Given the description of an element on the screen output the (x, y) to click on. 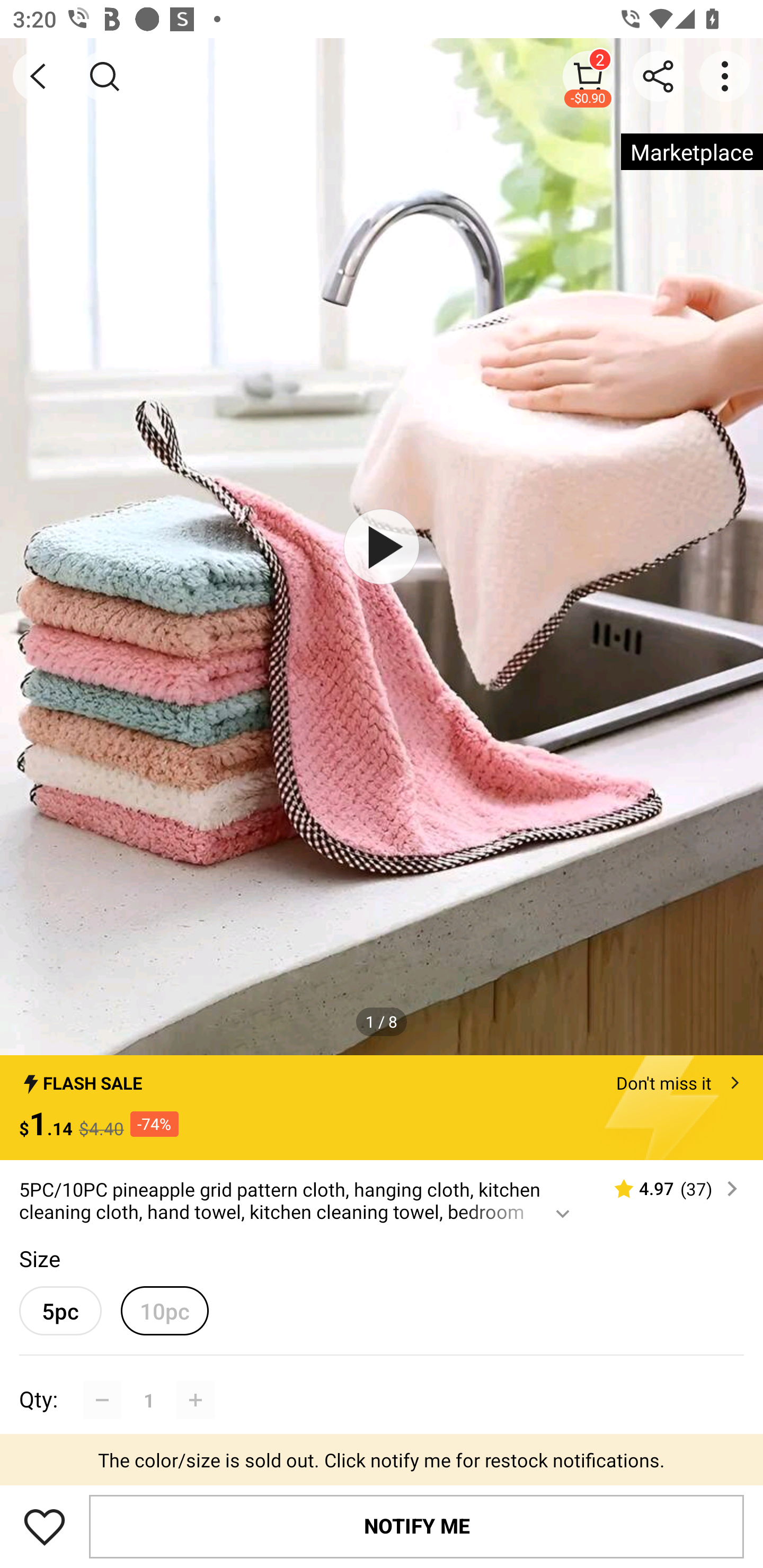
BACK (38, 75)
2 -$0.90 (588, 75)
1 / 8 (381, 1021)
FLASH SALE Don't miss it $1.14 $4.40 -74% (381, 1107)
FLASH SALE Don't miss it (381, 1077)
4.97 (37) (667, 1188)
Size (39, 1258)
5pc 5pcunselected option (60, 1310)
10pc (164, 1310)
Qty: 1 (381, 1380)
Promotion (381, 1464)
NOTIFY ME (416, 1526)
Save (44, 1526)
